Given the description of an element on the screen output the (x, y) to click on. 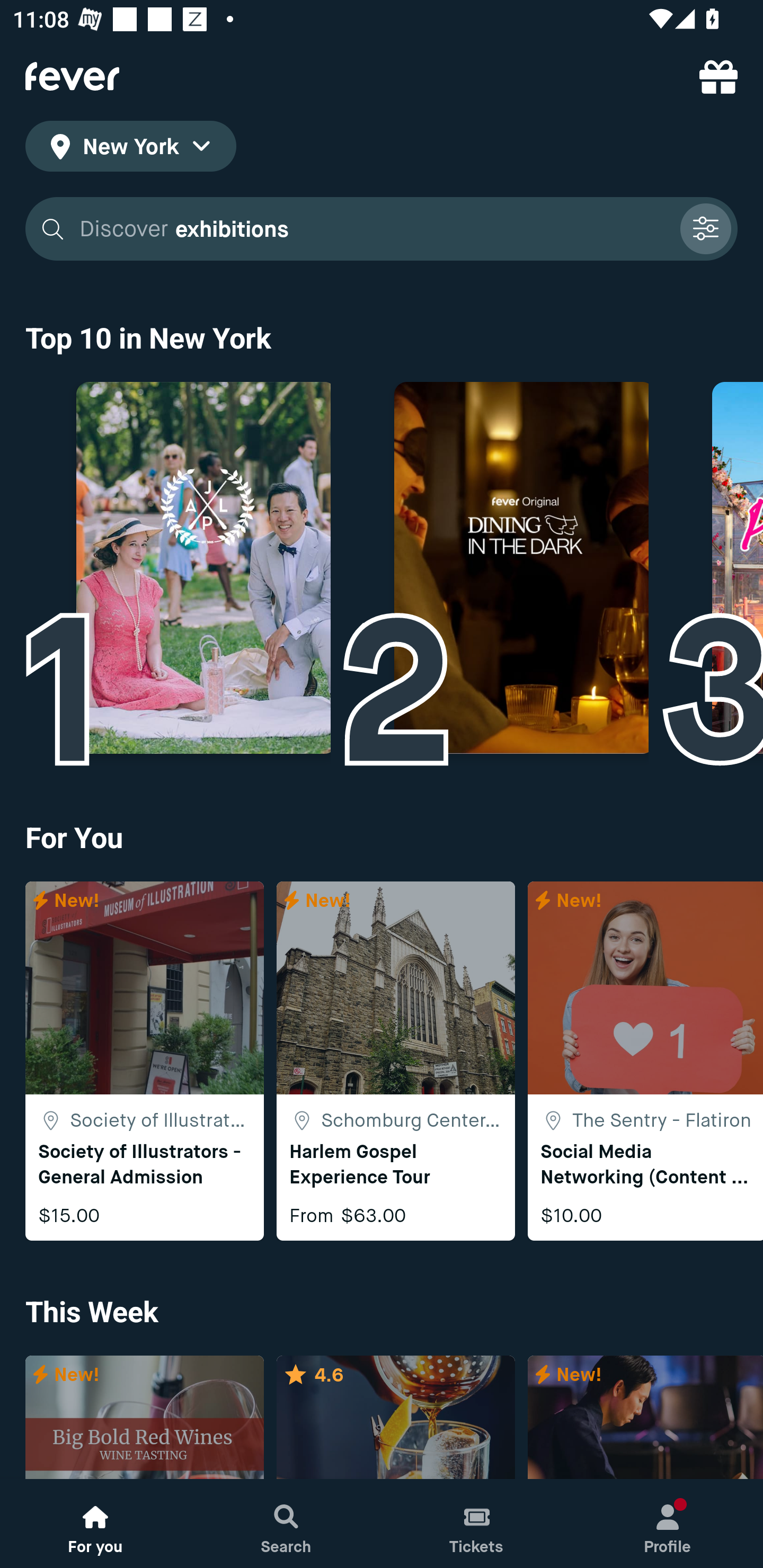
referral (718, 75)
location icon New York location icon (130, 149)
Discover exhibitions (381, 228)
Discover exhibitions (373, 228)
Search (285, 1523)
Tickets (476, 1523)
Profile, New notification Profile (667, 1523)
